Given the description of an element on the screen output the (x, y) to click on. 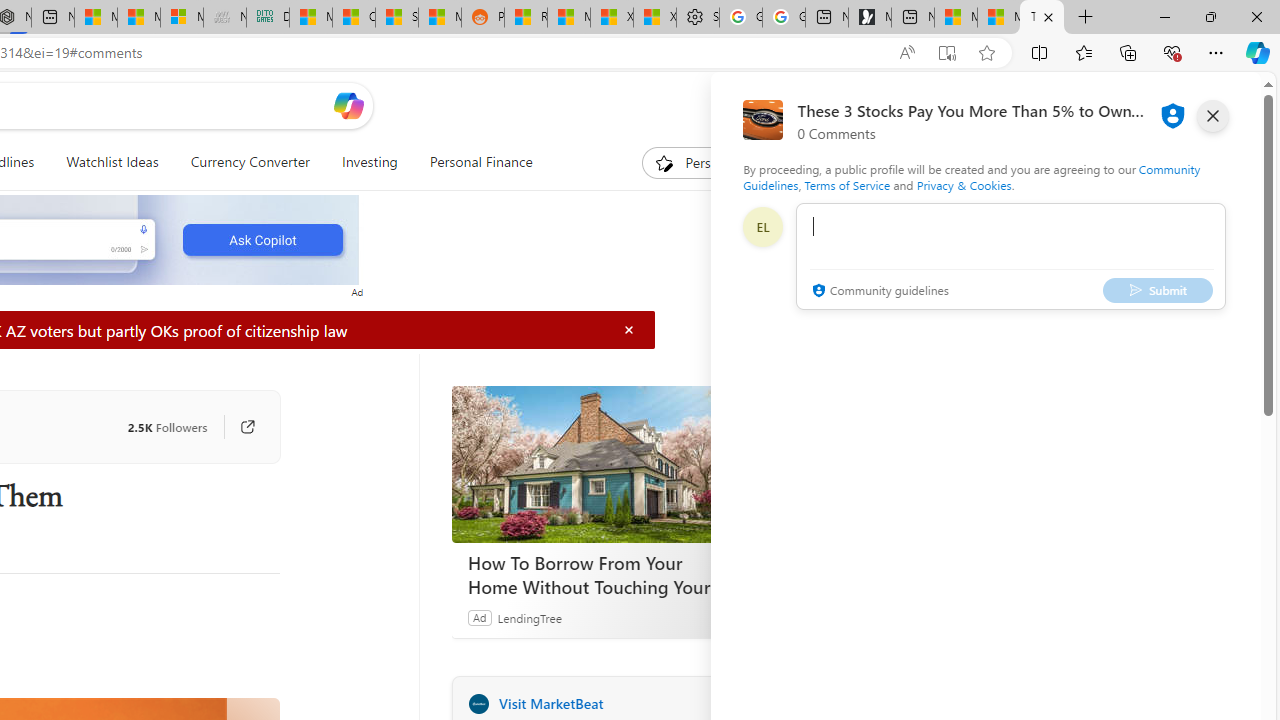
Personalize (703, 162)
